Given the description of an element on the screen output the (x, y) to click on. 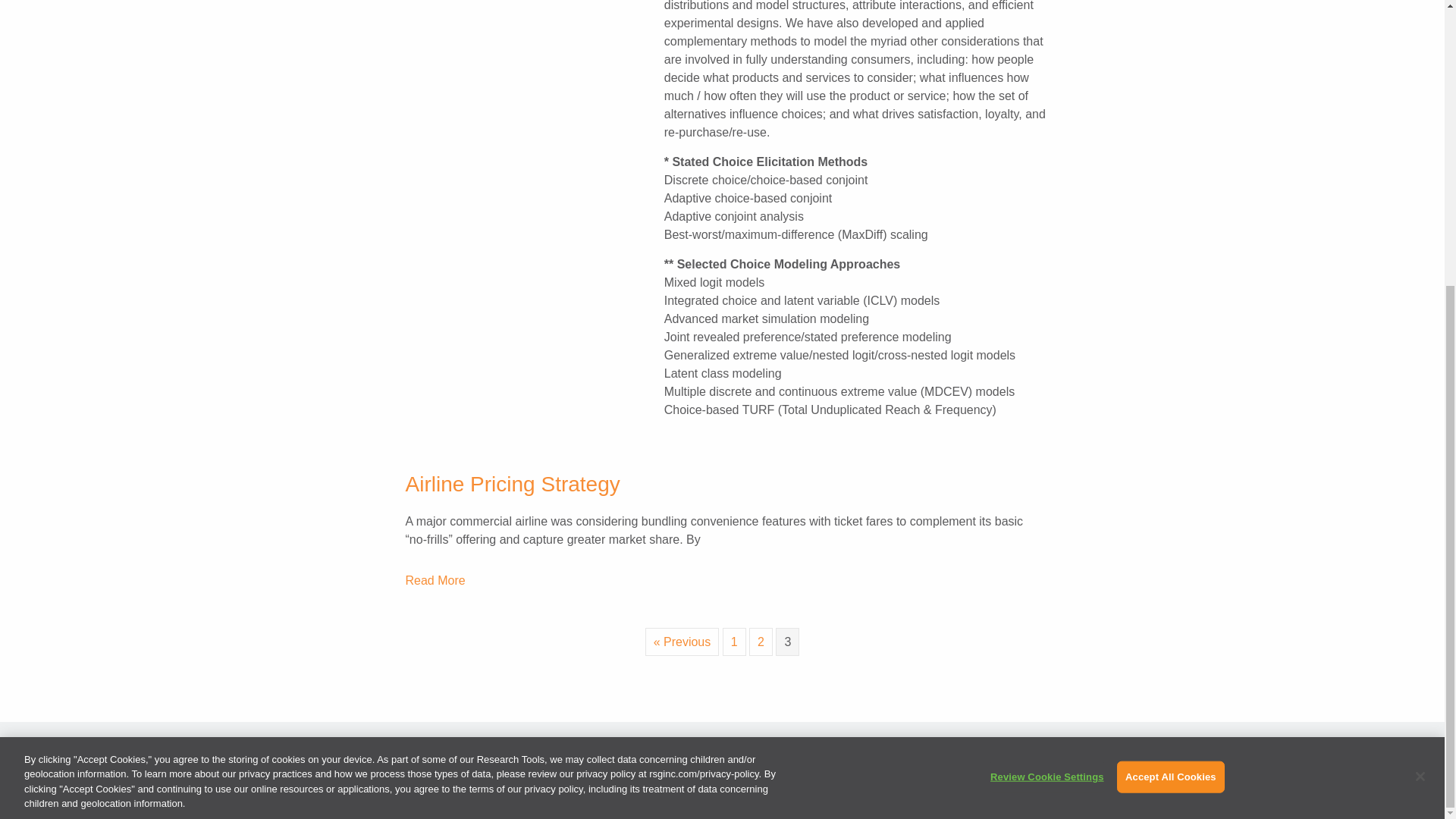
Airline Pricing Strategy (434, 580)
Airline Pricing Strategy (512, 484)
